Given the description of an element on the screen output the (x, y) to click on. 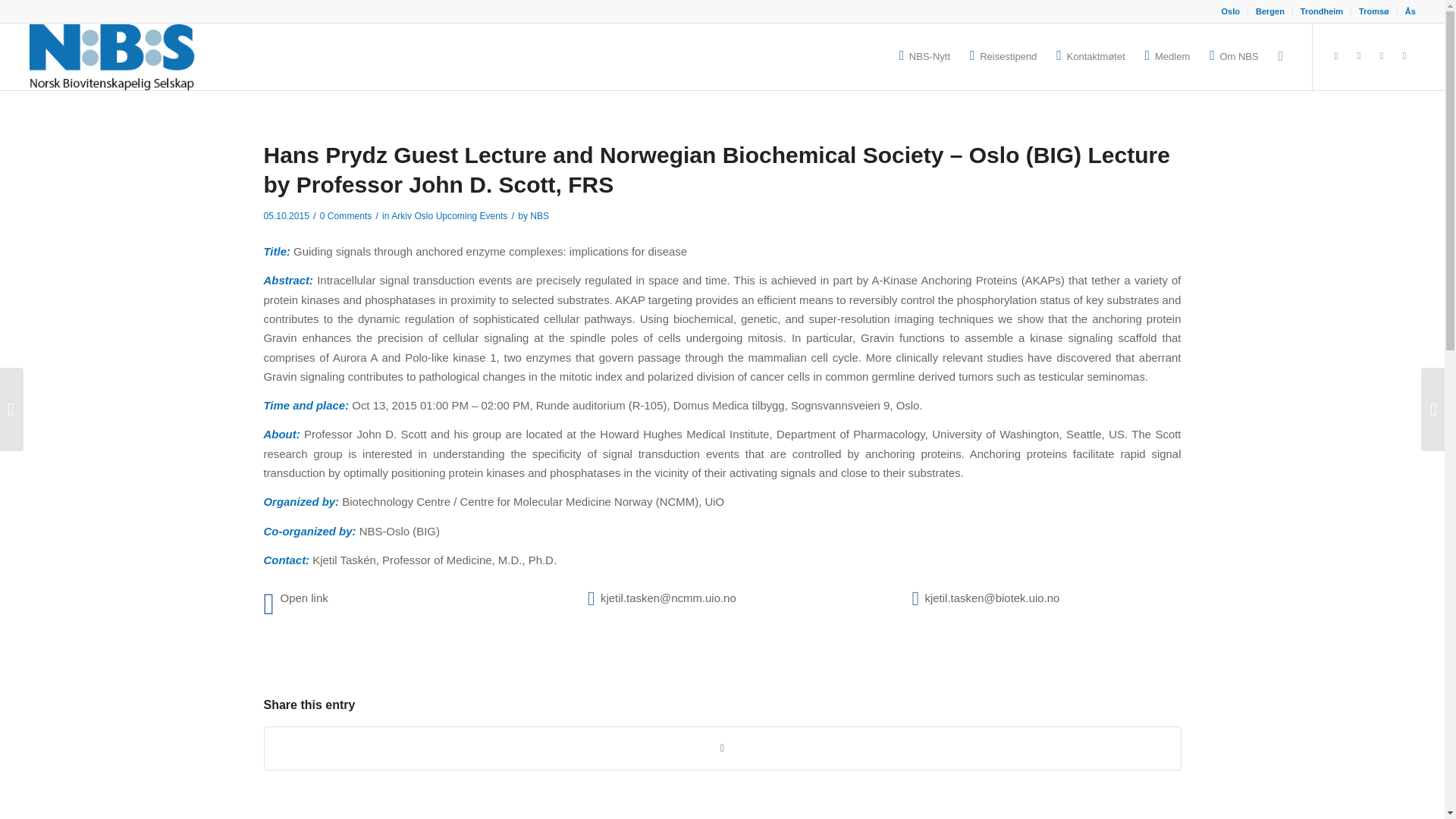
Facebook (1336, 56)
Reisestipend (1002, 56)
Facebook (1404, 56)
Facebook (1381, 56)
Oslo (1230, 11)
Medlem (1167, 56)
NBS-Nytt (924, 56)
Trondheim (1321, 11)
Facebook (1359, 56)
Bergen (1269, 11)
Posts by NBS (538, 215)
